Given the description of an element on the screen output the (x, y) to click on. 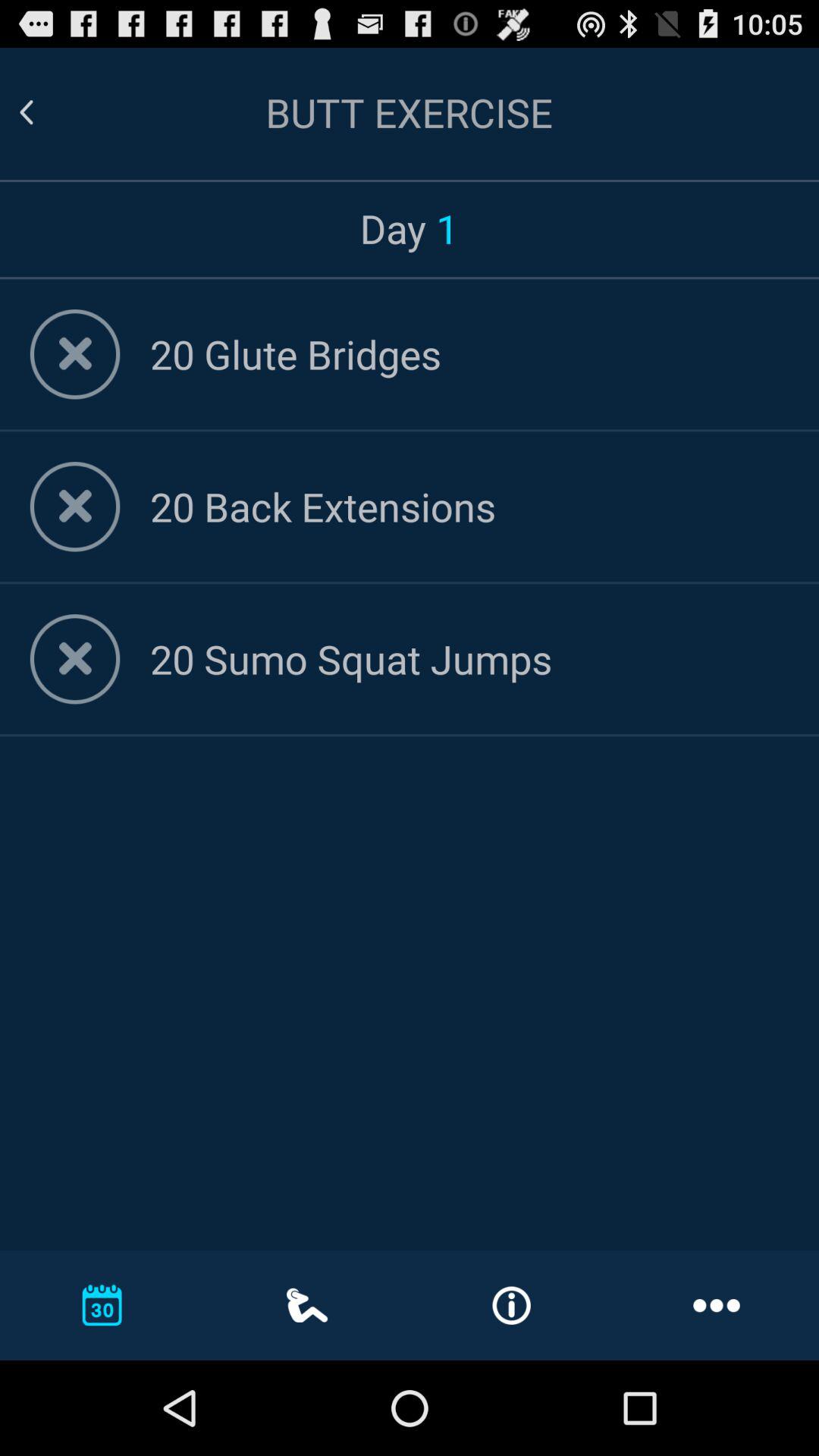
delete item (75, 659)
